Given the description of an element on the screen output the (x, y) to click on. 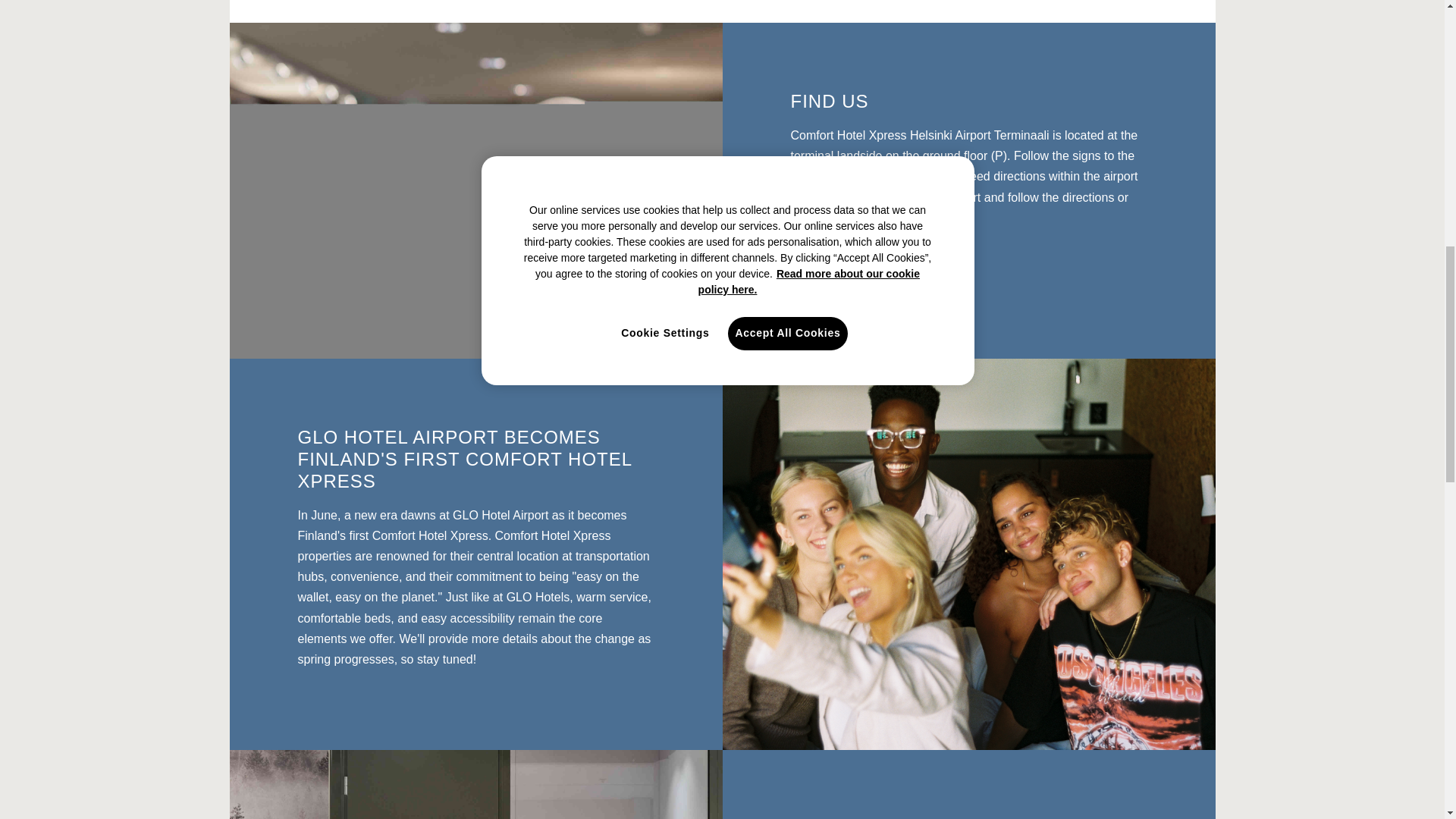
READ MORE (852, 257)
